Given the description of an element on the screen output the (x, y) to click on. 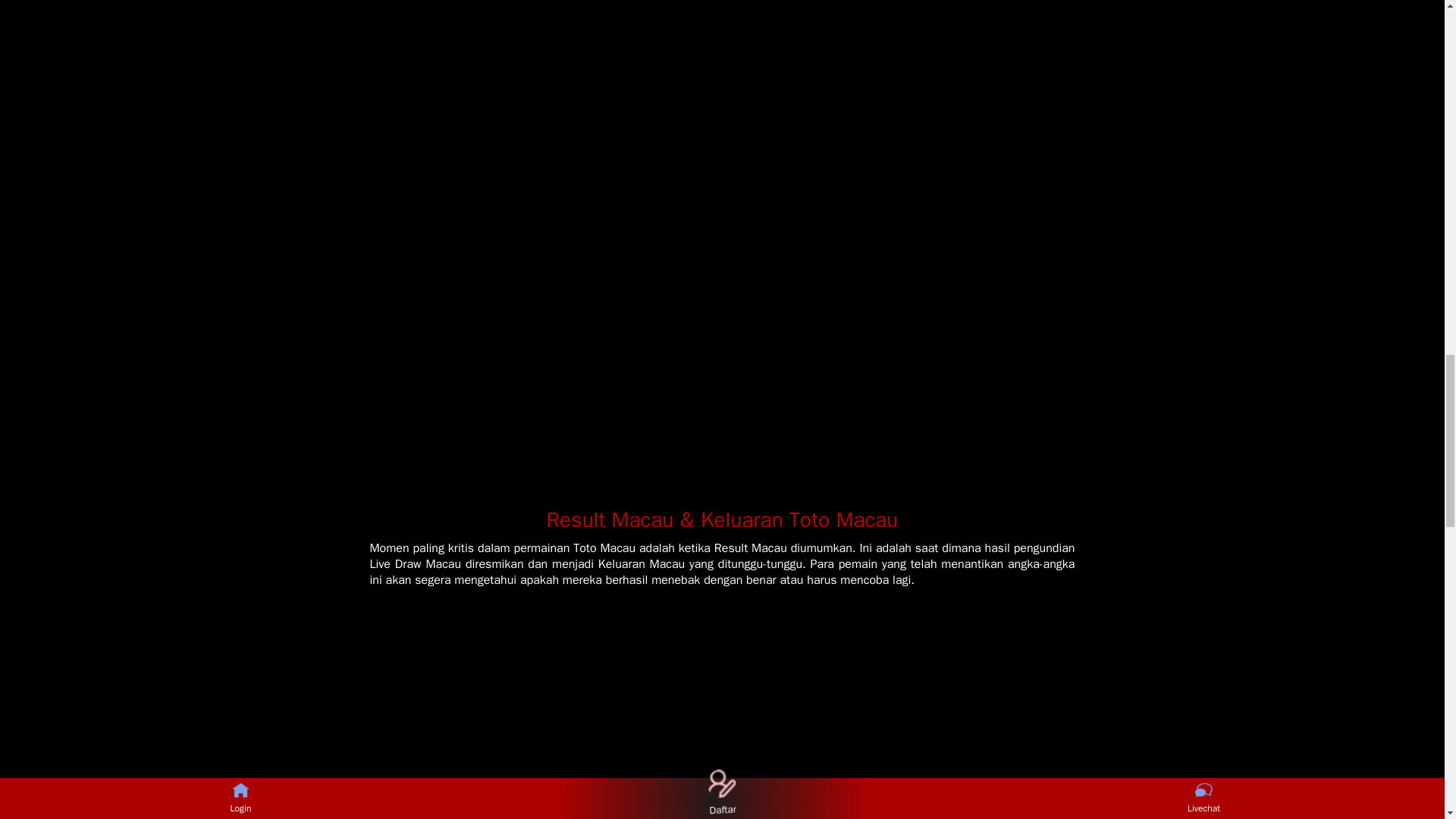
LIVE DRAW MACAU (722, 69)
